Given the description of an element on the screen output the (x, y) to click on. 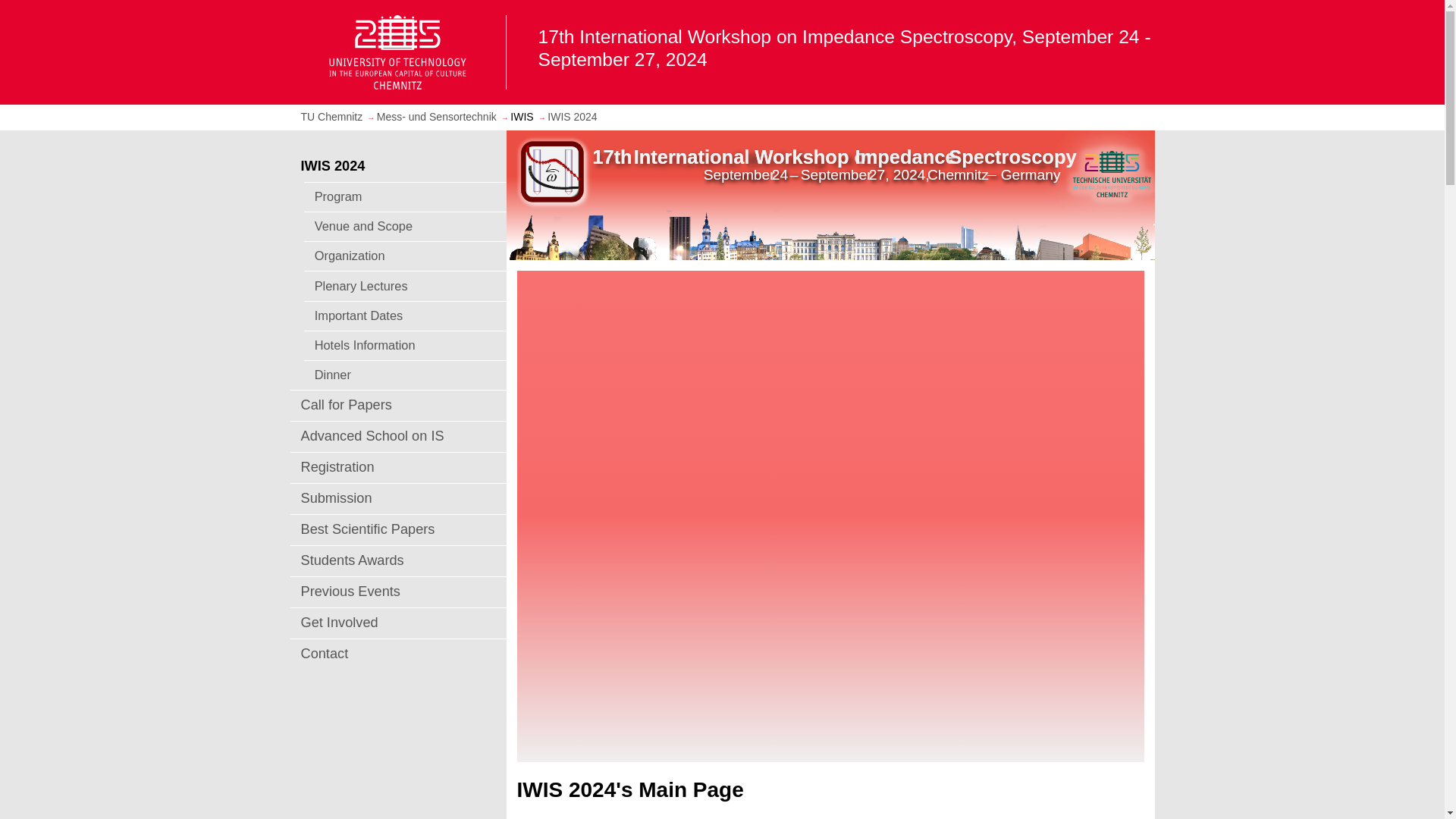
Homepage (330, 116)
Open home page (397, 51)
Jump to main content (3, 3)
